Given the description of an element on the screen output the (x, y) to click on. 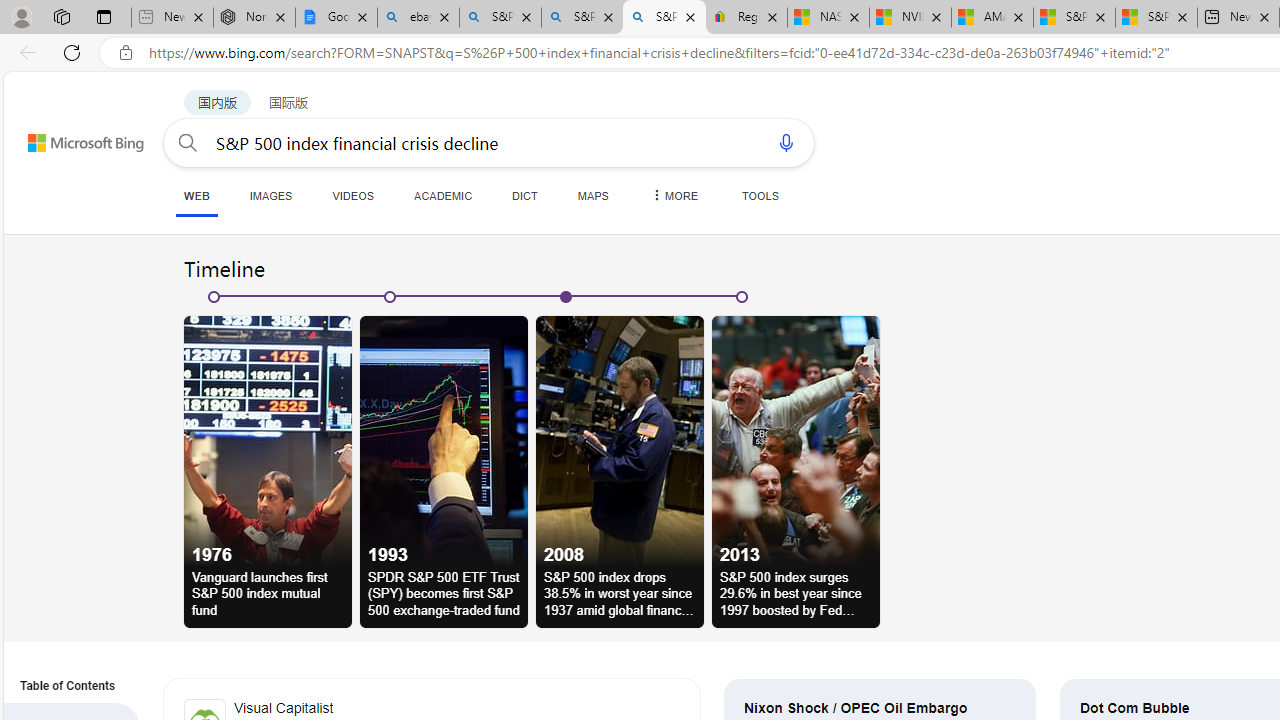
WEB (196, 195)
Dropdown Menu (673, 195)
1993 (443, 440)
MAPS (592, 195)
IMAGES (270, 195)
TOOLS (760, 195)
New tab - Sleeping (171, 17)
1976 1976 Vanguard launches first S&P 500 index mutual fund (268, 471)
S&P 500 - Search (582, 17)
WEB (196, 196)
DICT (525, 195)
